Given the description of an element on the screen output the (x, y) to click on. 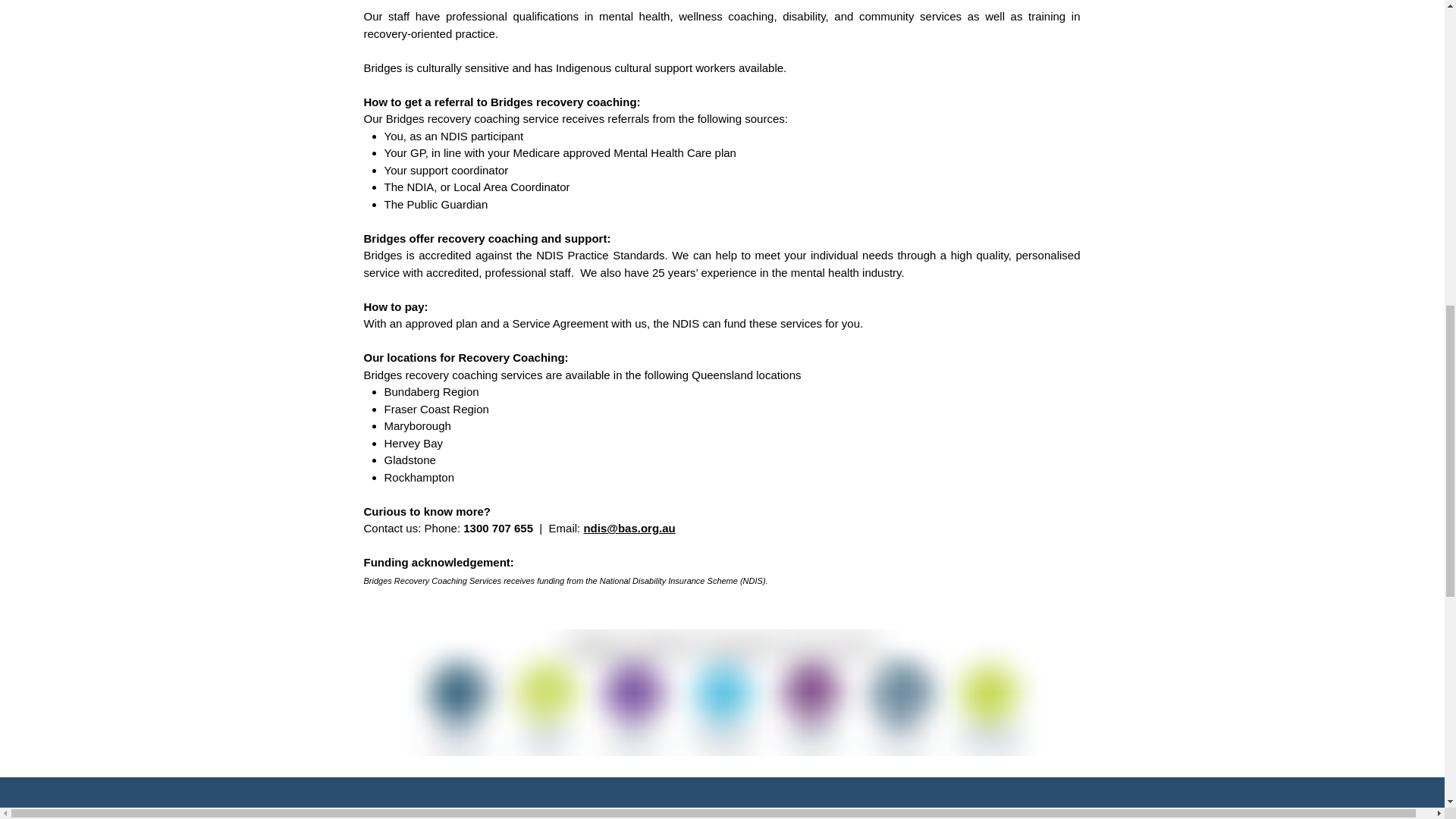
Bridges portfolio of programs and servic (721, 692)
